Given the description of an element on the screen output the (x, y) to click on. 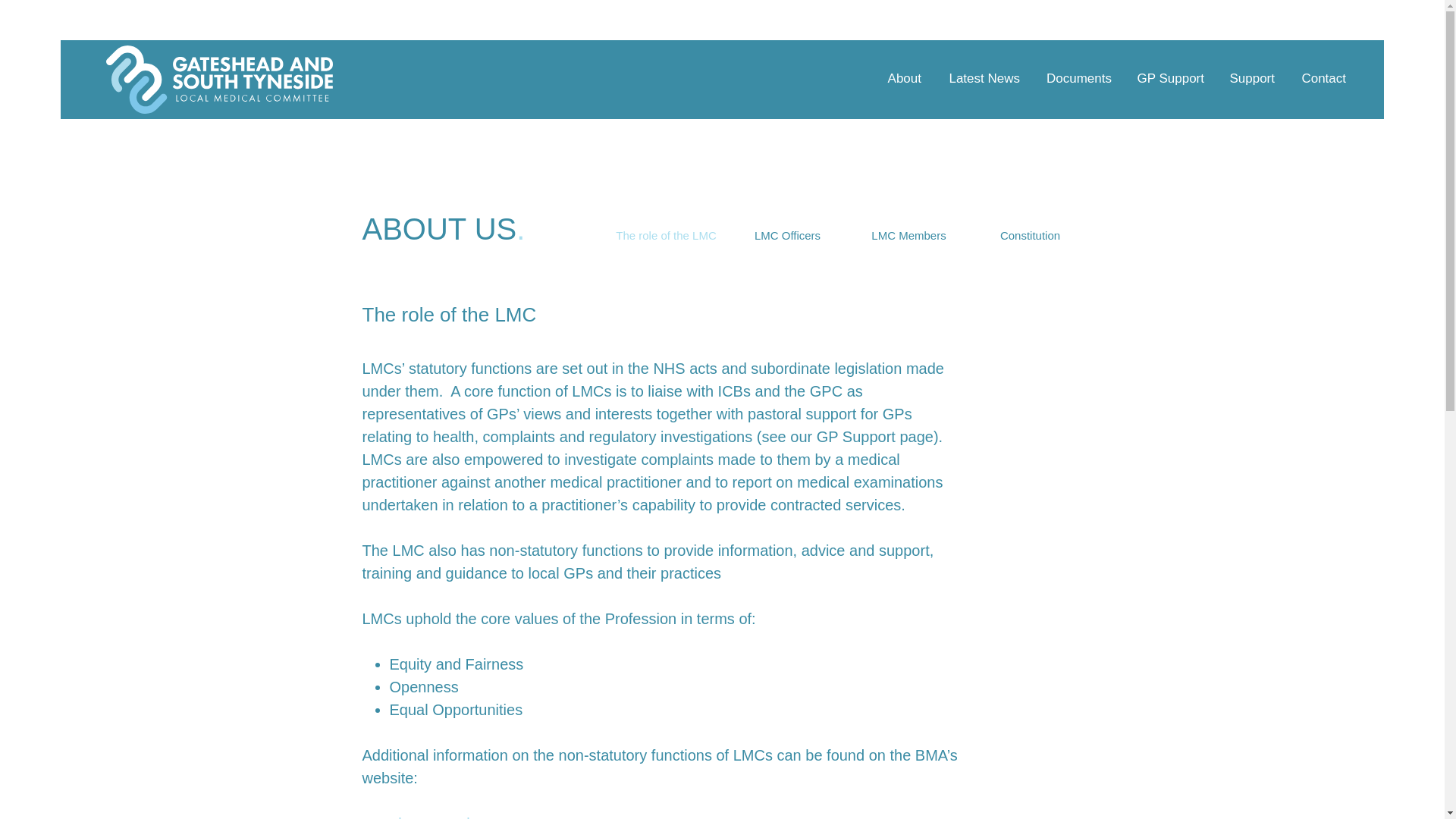
Documents (1076, 78)
www.bma.org.uk (418, 816)
LMC Members (909, 235)
Latest News (981, 78)
Support (1250, 78)
LMC Officers (787, 235)
Contact (1320, 78)
The role of the LMC (666, 235)
ABOUT US. (443, 228)
GP Support (1168, 78)
